Given the description of an element on the screen output the (x, y) to click on. 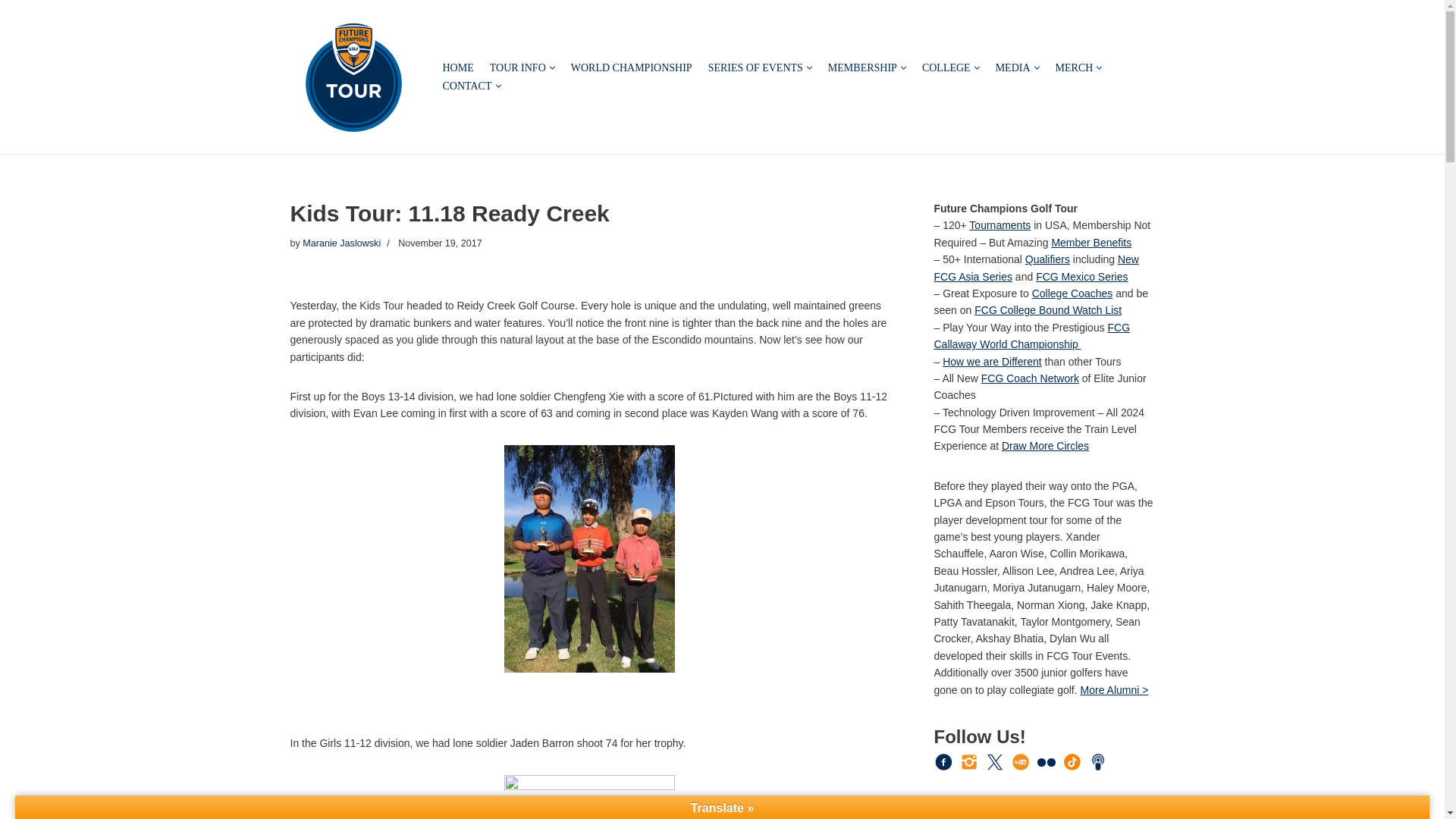
Posts by Maranie Jaslowski (341, 243)
Skip to content (11, 31)
Follow Us on TikTok (1071, 761)
Follow Us on Facebook (943, 761)
HOME (458, 67)
Follow Us on Instagram (968, 761)
Follow Us on YouTube (1020, 761)
TOUR INFO (517, 67)
Follow Us on Podcasts (1097, 761)
Follow Us on Flickr (1045, 762)
Follow Us on X (994, 761)
